Given the description of an element on the screen output the (x, y) to click on. 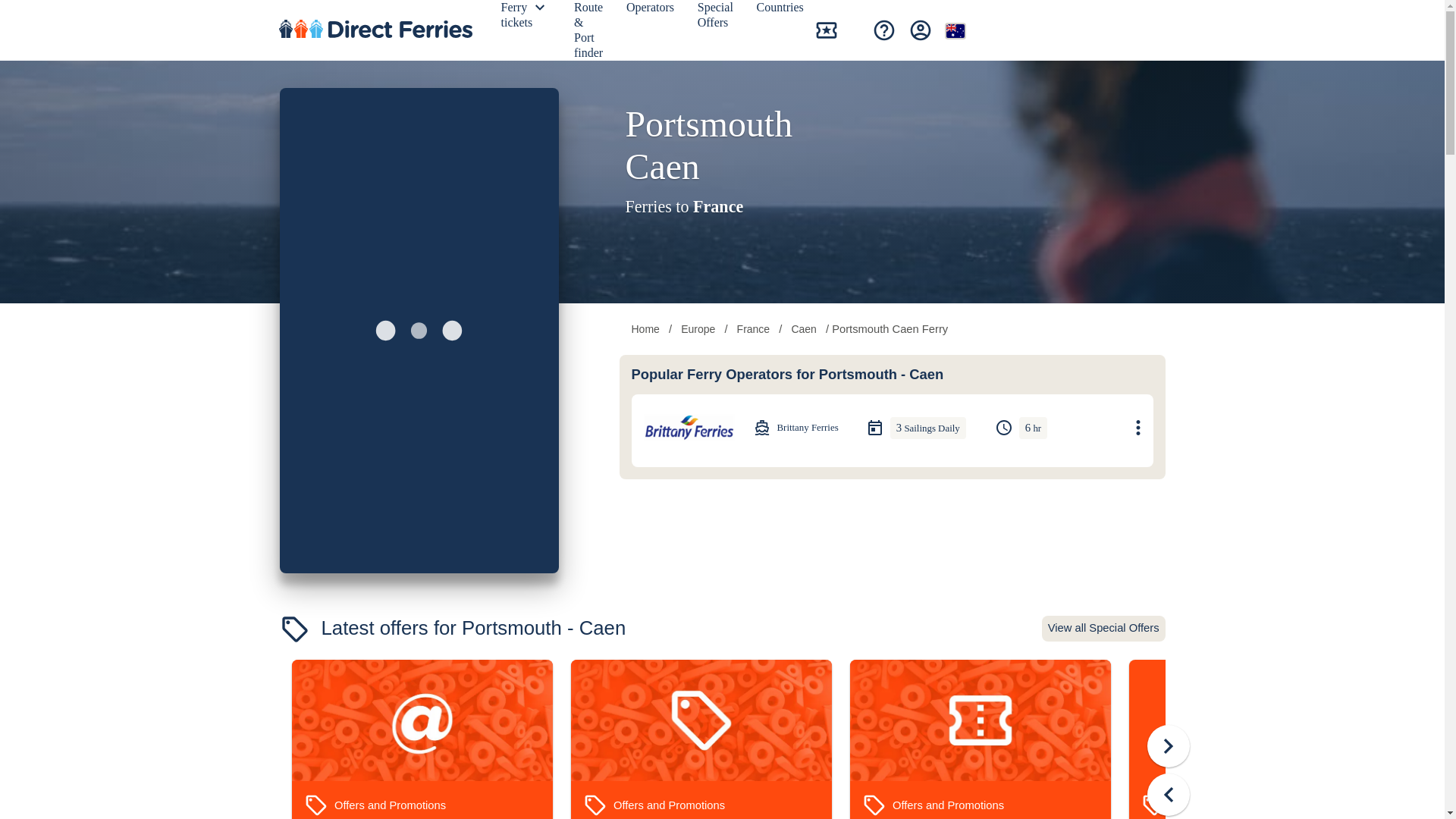
Operators (652, 10)
Special Offers (717, 18)
Ferry tickets (519, 18)
Countries (783, 10)
